Given the description of an element on the screen output the (x, y) to click on. 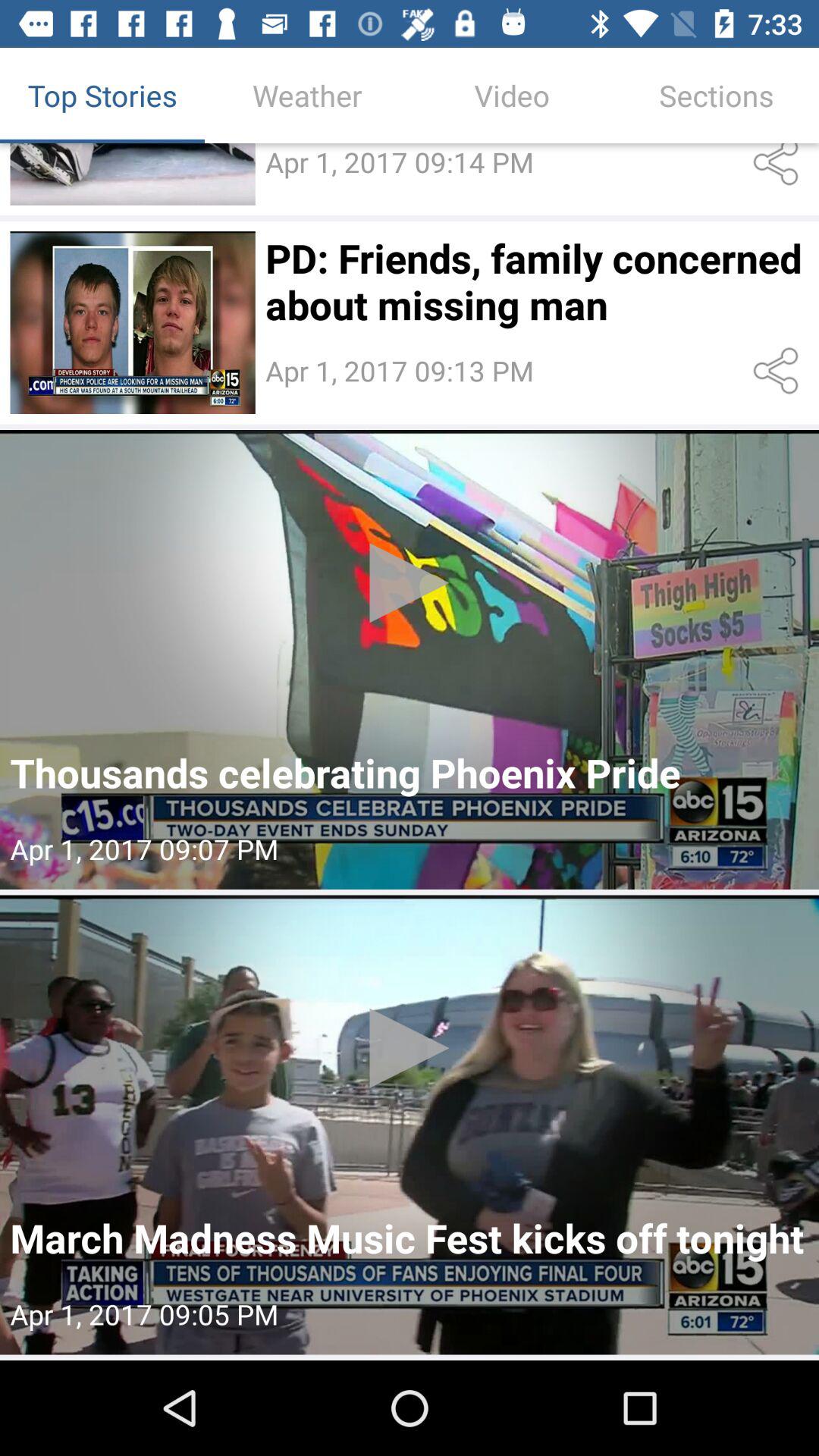
load news tile video (409, 659)
